Given the description of an element on the screen output the (x, y) to click on. 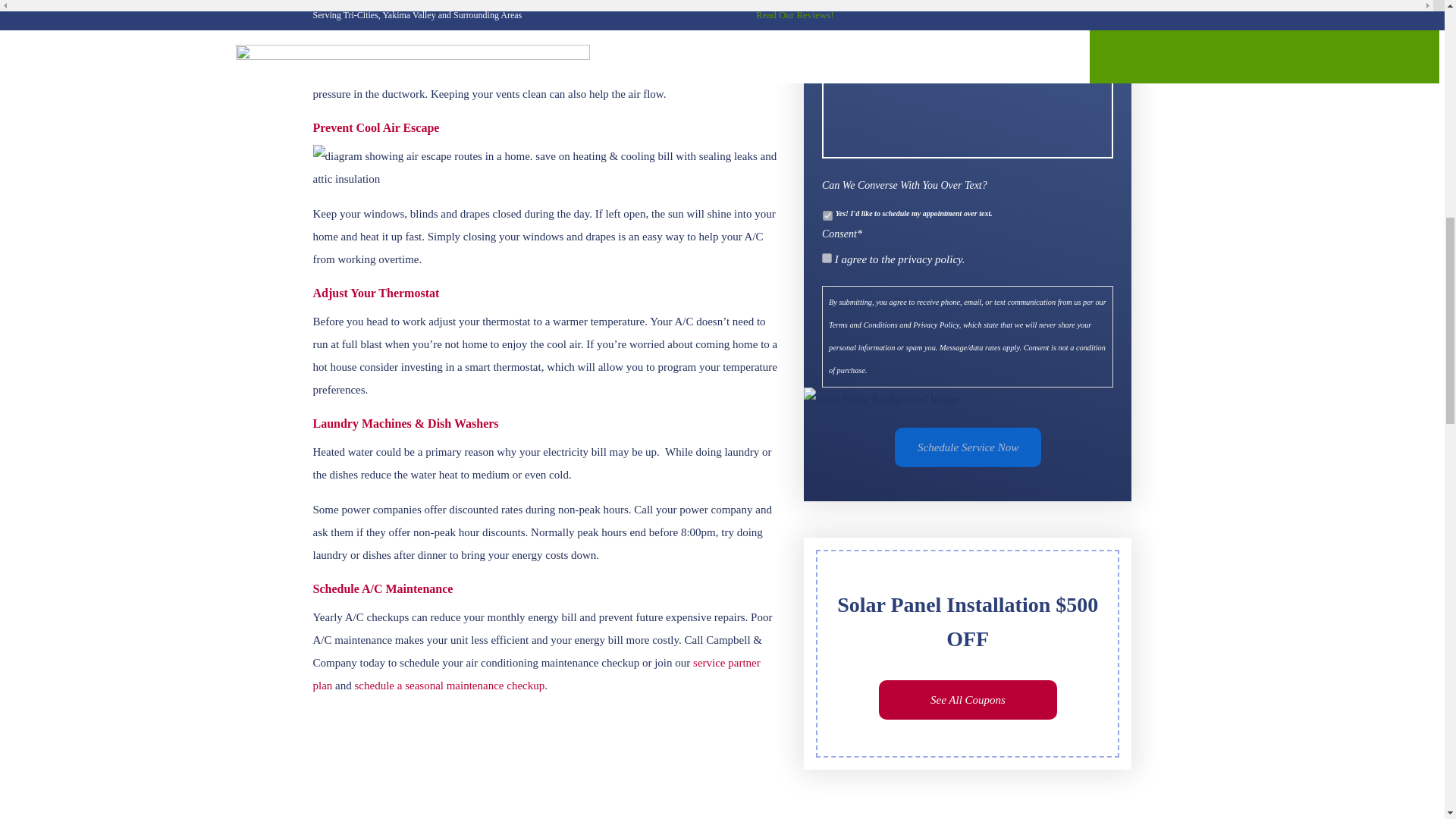
Yes! I'd like to schedule my appointment over text. (827, 215)
1 (826, 257)
